Given the description of an element on the screen output the (x, y) to click on. 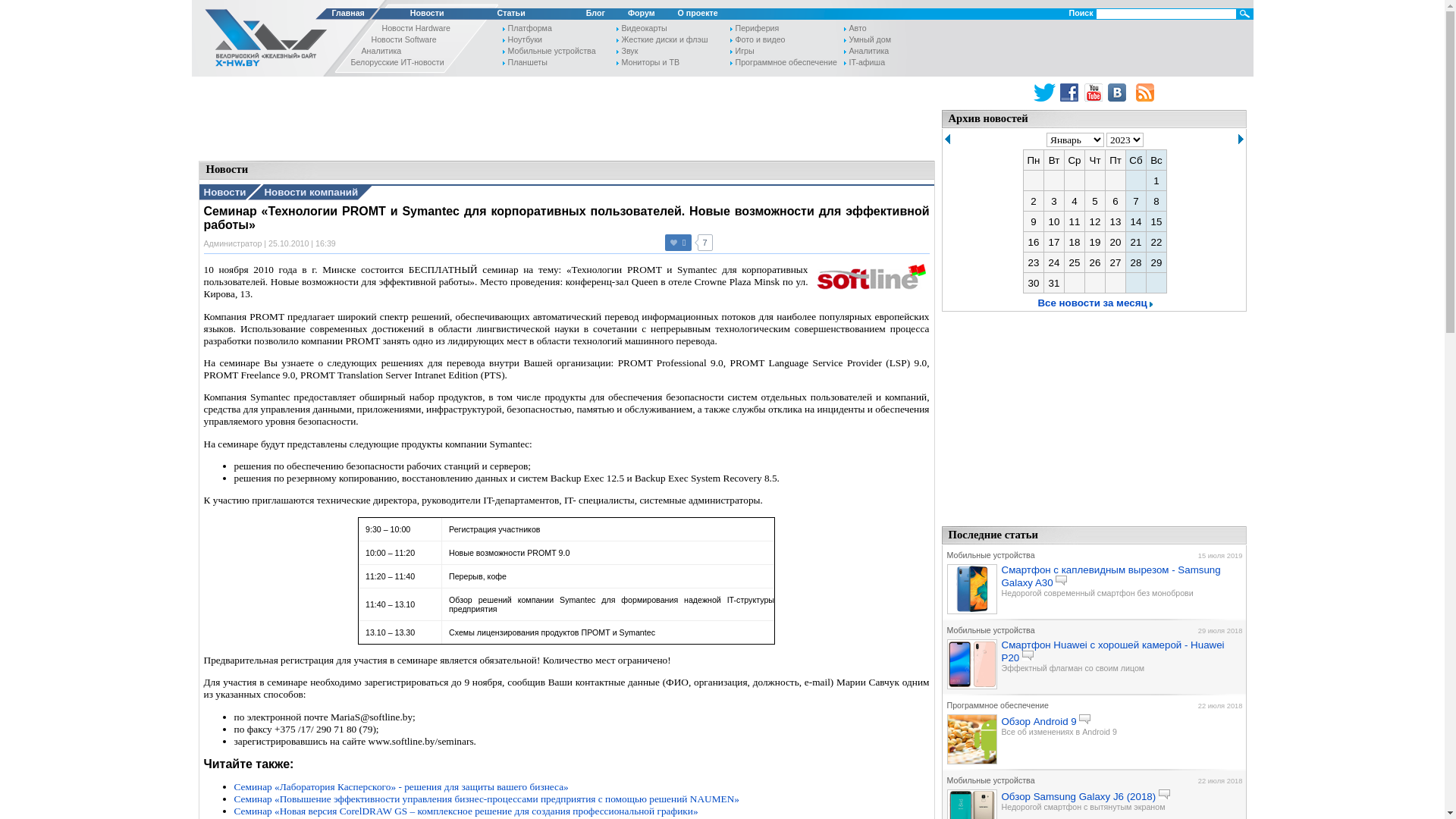
X-HW.BY Twitter Element type: hover (1044, 92)
X-HW.BY Youtube Element type: hover (1095, 92)
  Element type: text (1240, 139)
X-HW.BY VKontakte Element type: hover (1118, 92)
Advertisement Element type: hover (565, 117)
X-HW.BY Facebook Element type: hover (1071, 92)
  Element type: text (947, 139)
Advertisement Element type: hover (1094, 422)
